Given the description of an element on the screen output the (x, y) to click on. 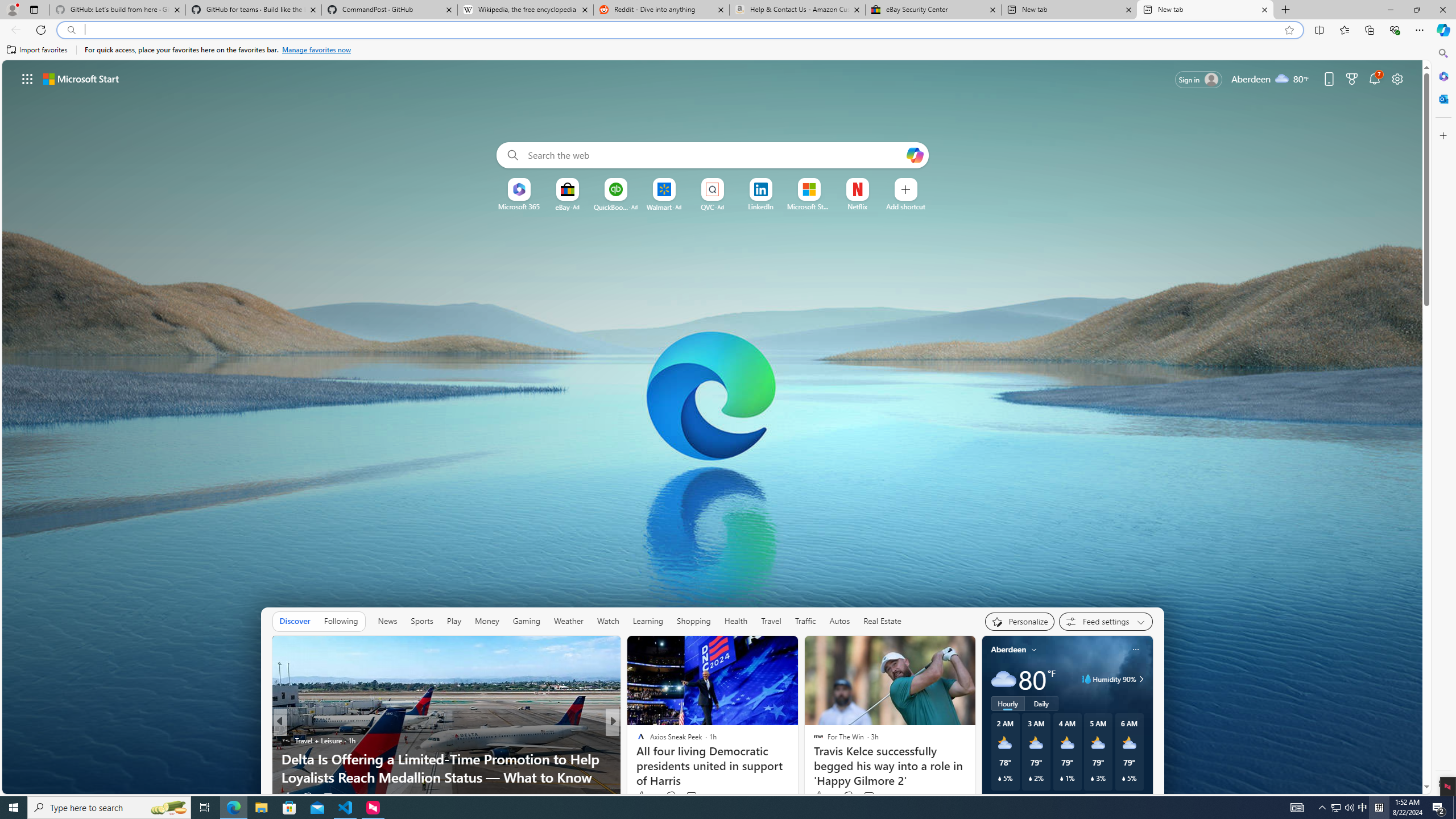
490 Like (643, 796)
Daily (1041, 703)
View comments 42 Comment (693, 796)
Favorites bar (715, 49)
Real Estate (882, 621)
See full forecast (1112, 799)
Travel + Leisure (286, 740)
Learning (648, 621)
View comments 4 Comment (687, 797)
